Given the description of an element on the screen output the (x, y) to click on. 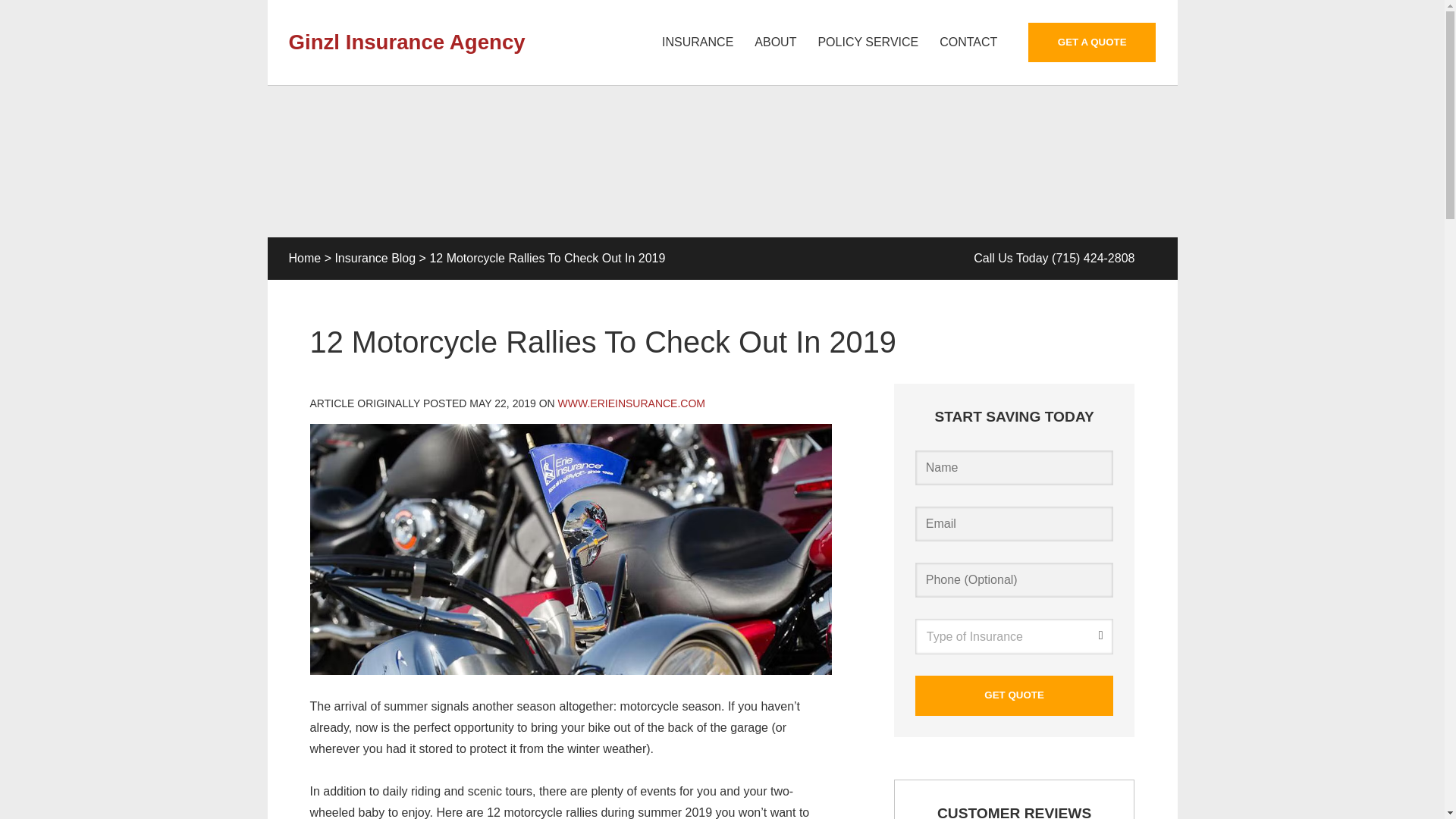
INSURANCE (697, 42)
Get Quote (1014, 694)
Home Page (426, 41)
ABOUT (775, 42)
POLICY SERVICE (867, 42)
